Given the description of an element on the screen output the (x, y) to click on. 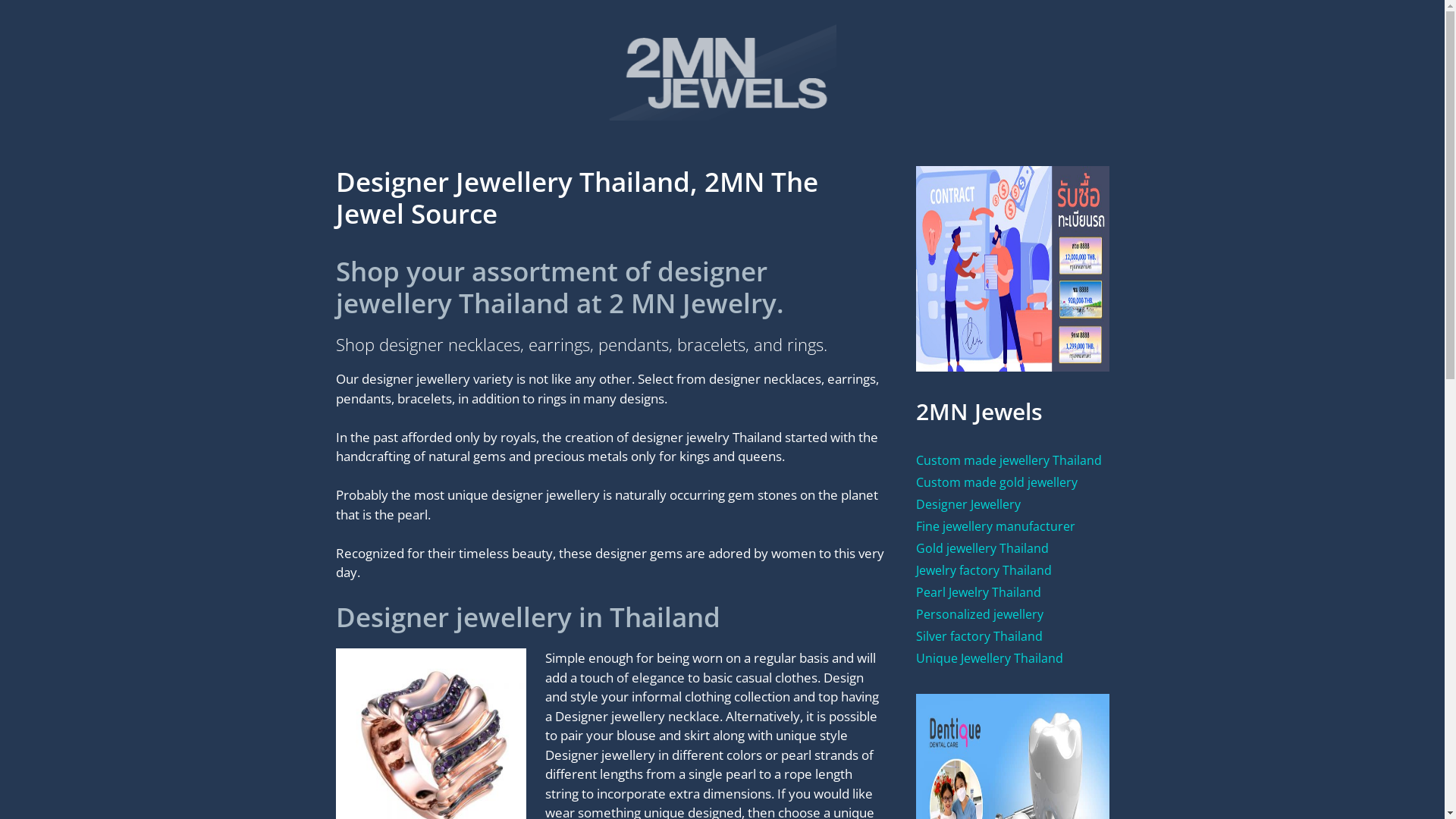
Custom made jewellery Thailand Element type: text (1008, 459)
Gold jewellery Thailand Element type: text (982, 547)
Custom made gold jewellery Element type: text (996, 481)
Fine jewellery manufacturer Element type: text (995, 525)
Pearl Jewelry Thailand Element type: text (978, 591)
Personalized jewellery Element type: text (979, 613)
Designer Jewellery Element type: text (968, 503)
Jewelry factory Thailand Element type: text (983, 569)
Unique Jewellery Thailand Element type: text (989, 657)
Silver factory Thailand Element type: text (979, 635)
